Given the description of an element on the screen output the (x, y) to click on. 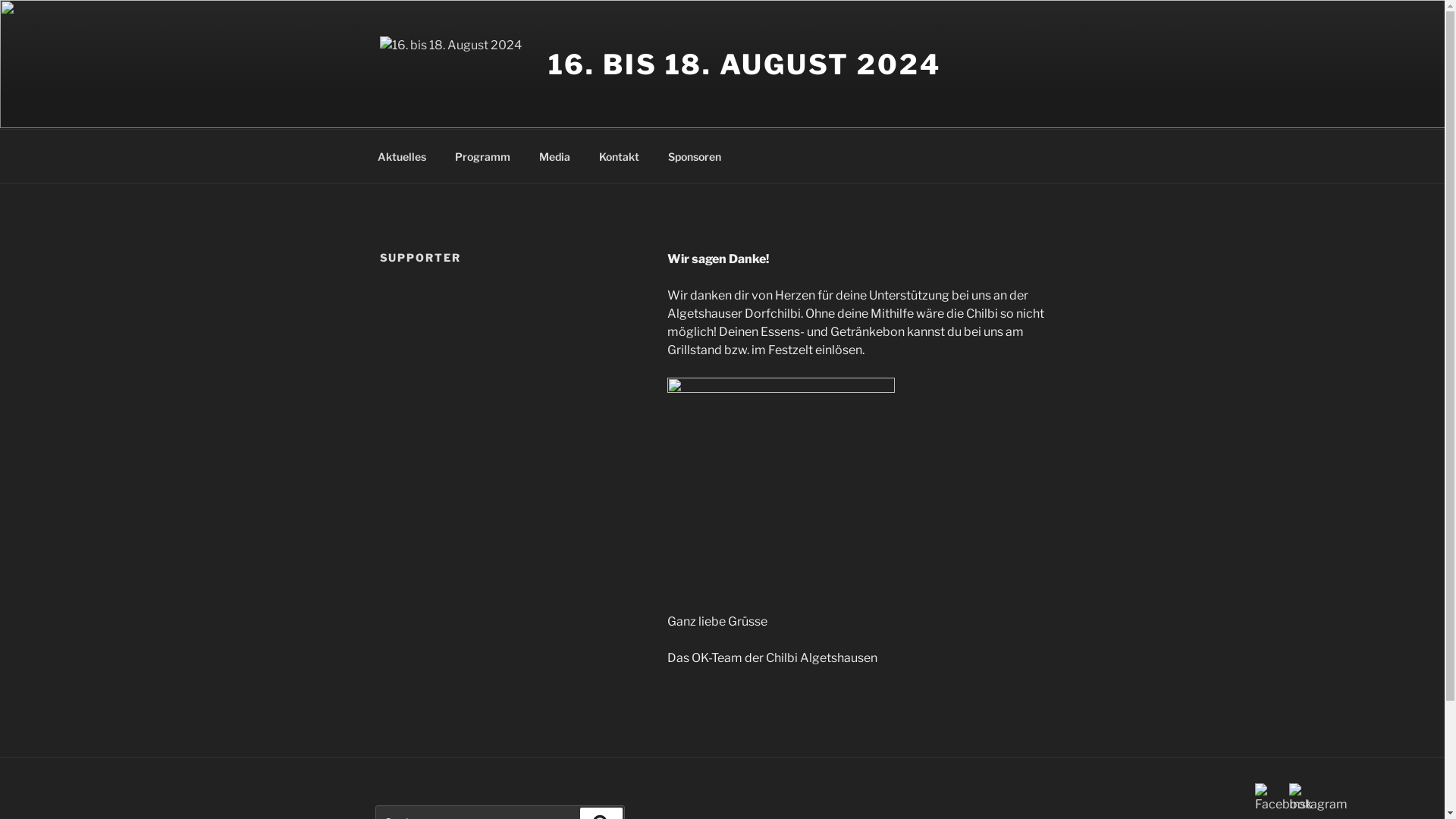
16. BIS 18. AUGUST 2024 Element type: text (743, 64)
Facebook Element type: hover (1283, 798)
Media Element type: text (554, 156)
Aktuelles Element type: text (401, 156)
Kontakt Element type: text (618, 156)
Programm Element type: text (482, 156)
Instagram Element type: hover (1318, 798)
Sponsoren Element type: text (694, 156)
